Given the description of an element on the screen output the (x, y) to click on. 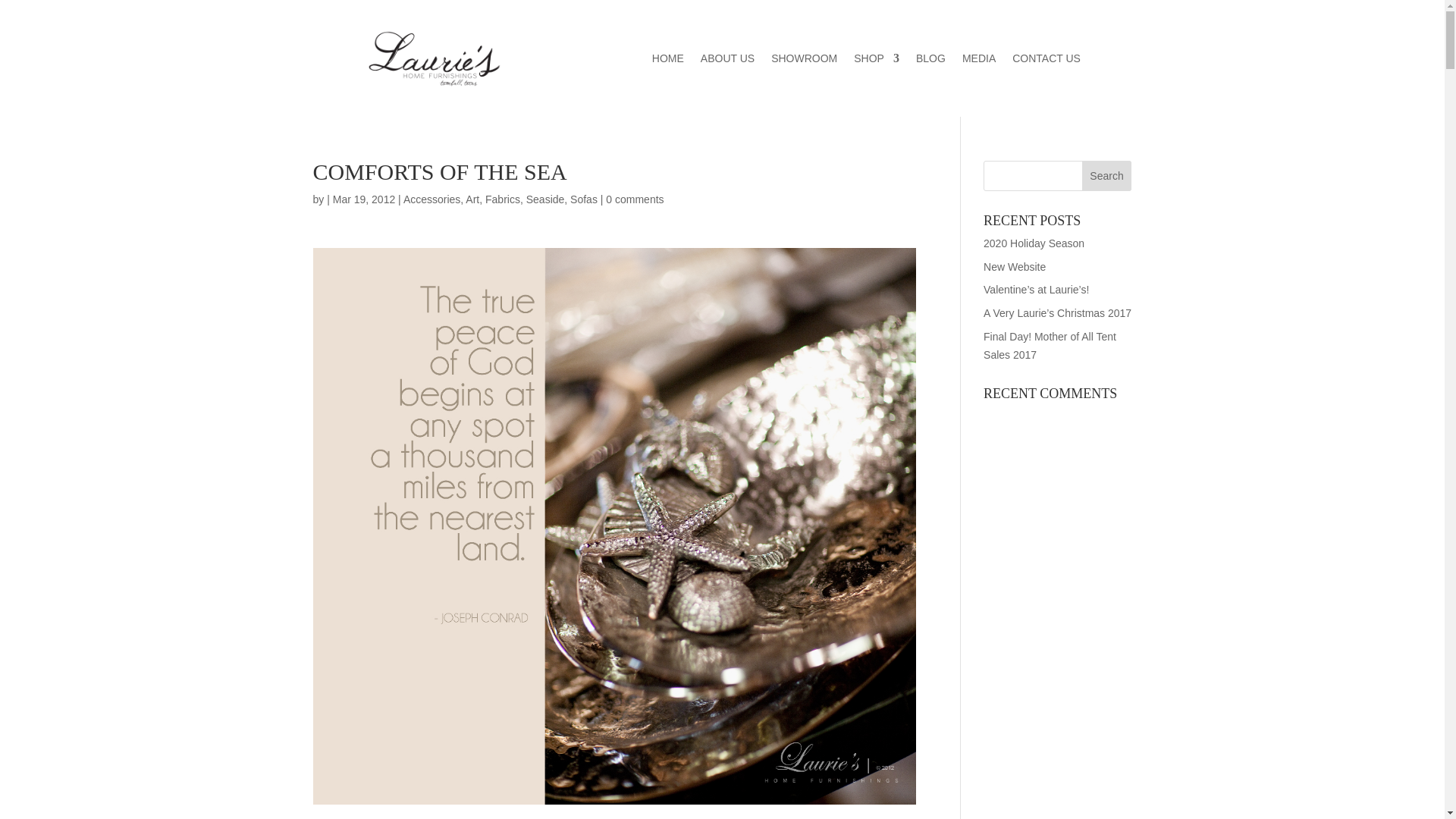
BLOG (929, 61)
CONTACT US (1045, 61)
HOME (668, 61)
ABOUT US (727, 61)
SHOWROOM (804, 61)
MEDIA (978, 61)
SHOP (876, 61)
Search (1106, 175)
